Given the description of an element on the screen output the (x, y) to click on. 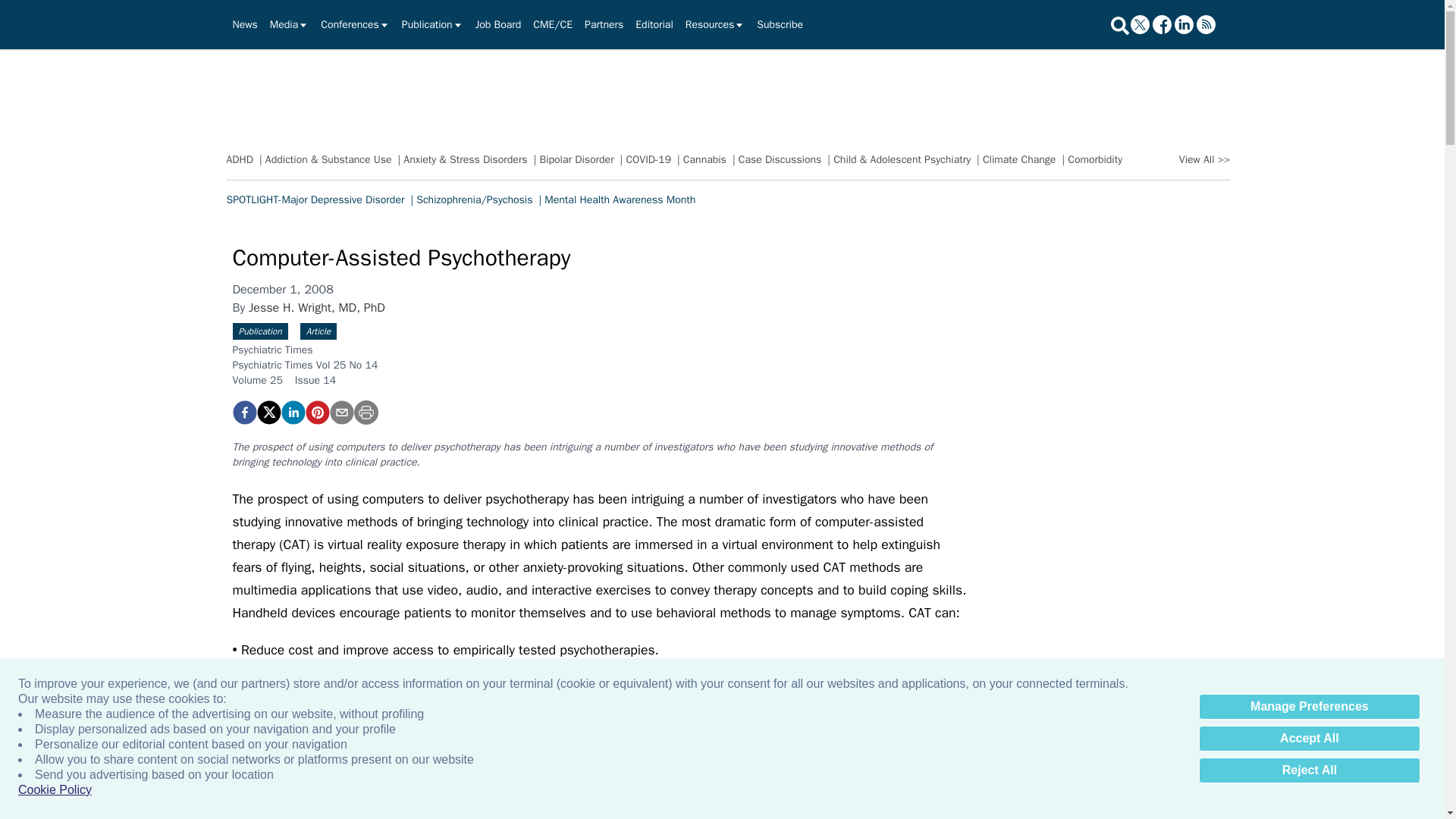
Reject All (1309, 769)
News (244, 23)
Manage Preferences (1309, 706)
Partners (604, 23)
Job Board (498, 23)
Computer-Assisted Psychotherapy (243, 412)
Subscribe (780, 23)
Computer-Assisted Psychotherapy (316, 412)
Editorial (653, 23)
Accept All (1309, 738)
